Given the description of an element on the screen output the (x, y) to click on. 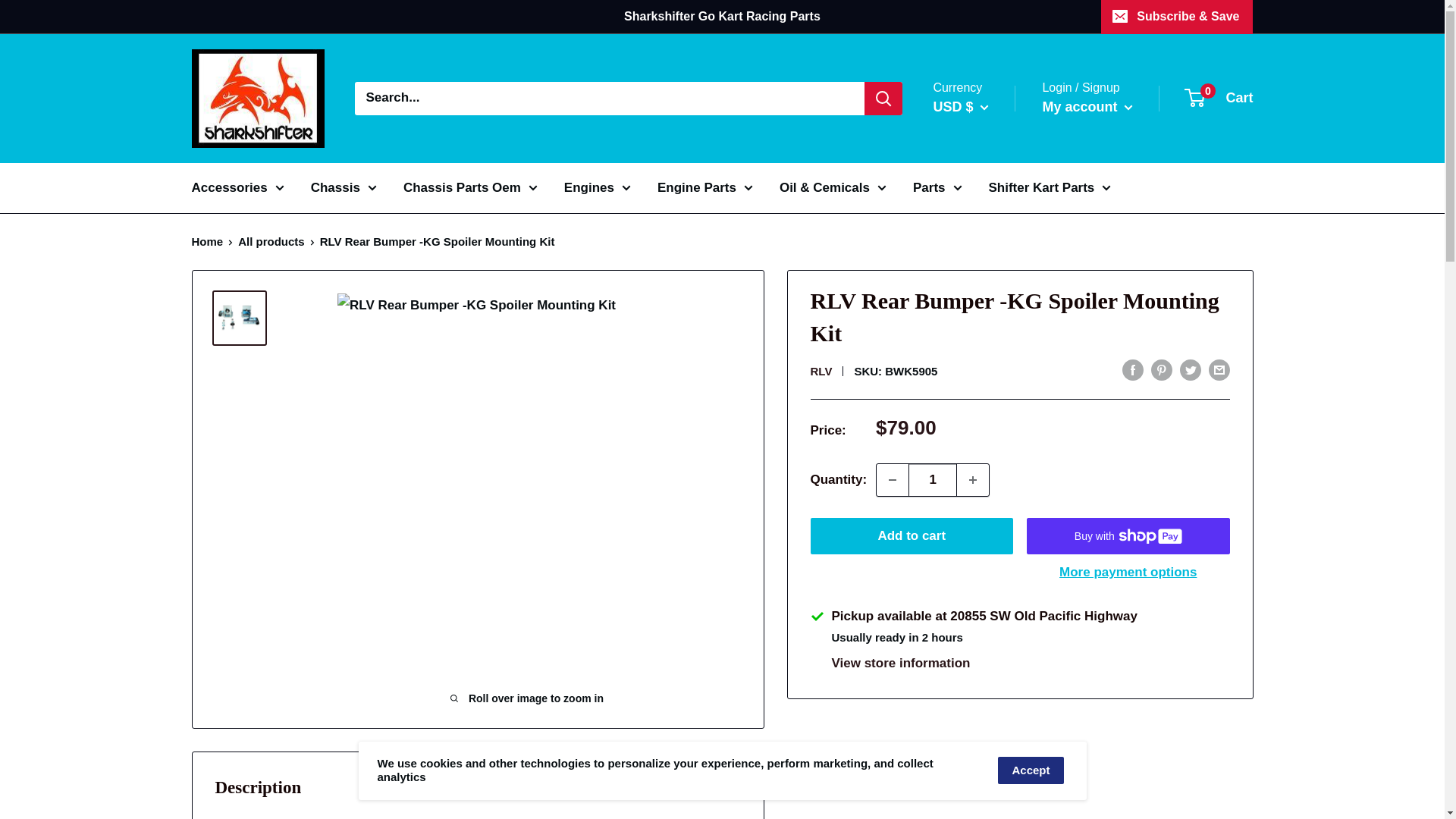
Decrease quantity by 1 (892, 480)
1 (932, 480)
Increase quantity by 1 (972, 480)
